Given the description of an element on the screen output the (x, y) to click on. 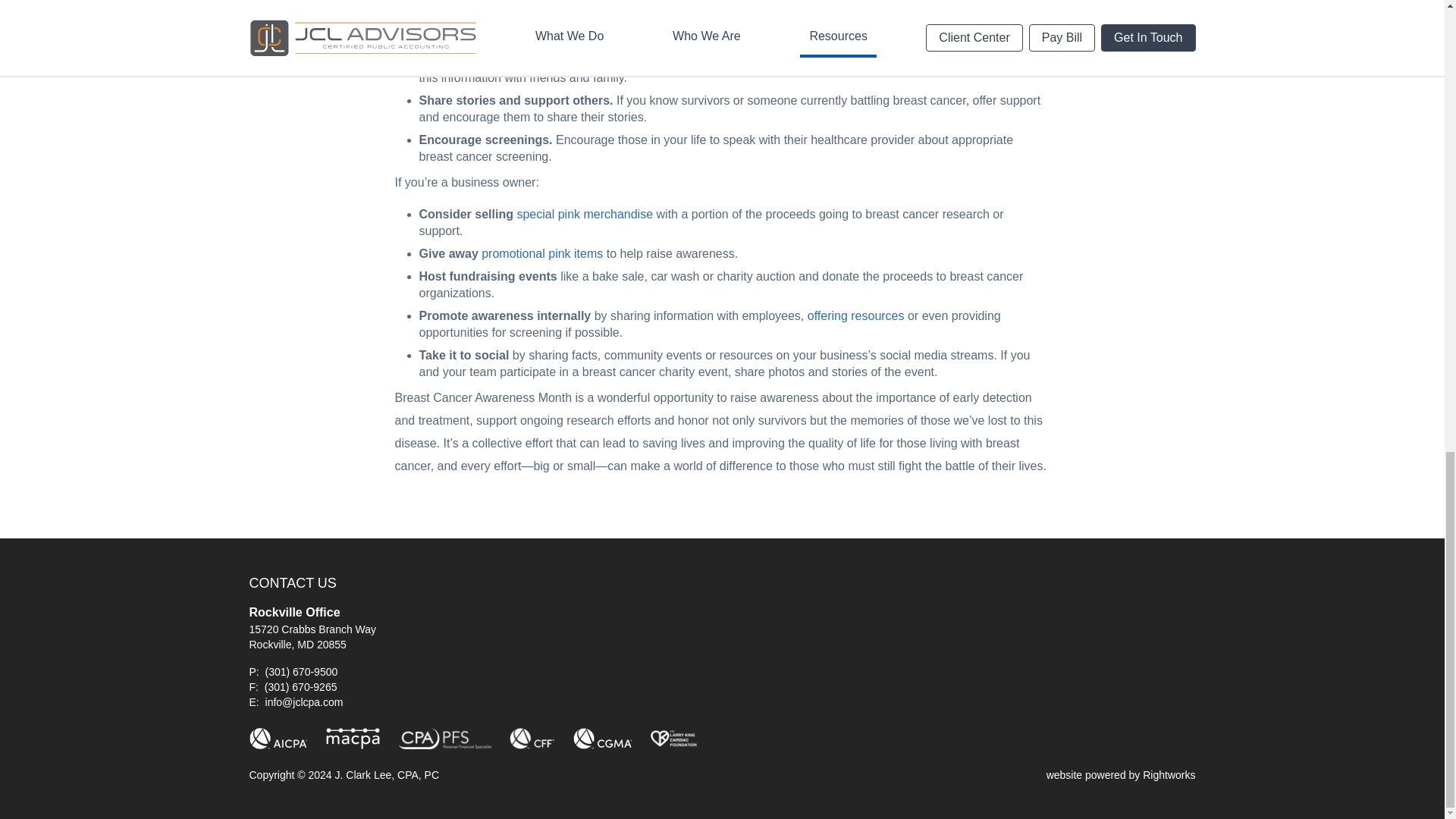
Learn more about Maryland CPAs (352, 738)
Learn more about CPA PFS (444, 738)
Learn more about AICPA Certified in Financial Forensics (531, 738)
Learn more about American Institute of CPAs (277, 738)
Learn more about Larry King Cardiac Foundation (673, 738)
